Given the description of an element on the screen output the (x, y) to click on. 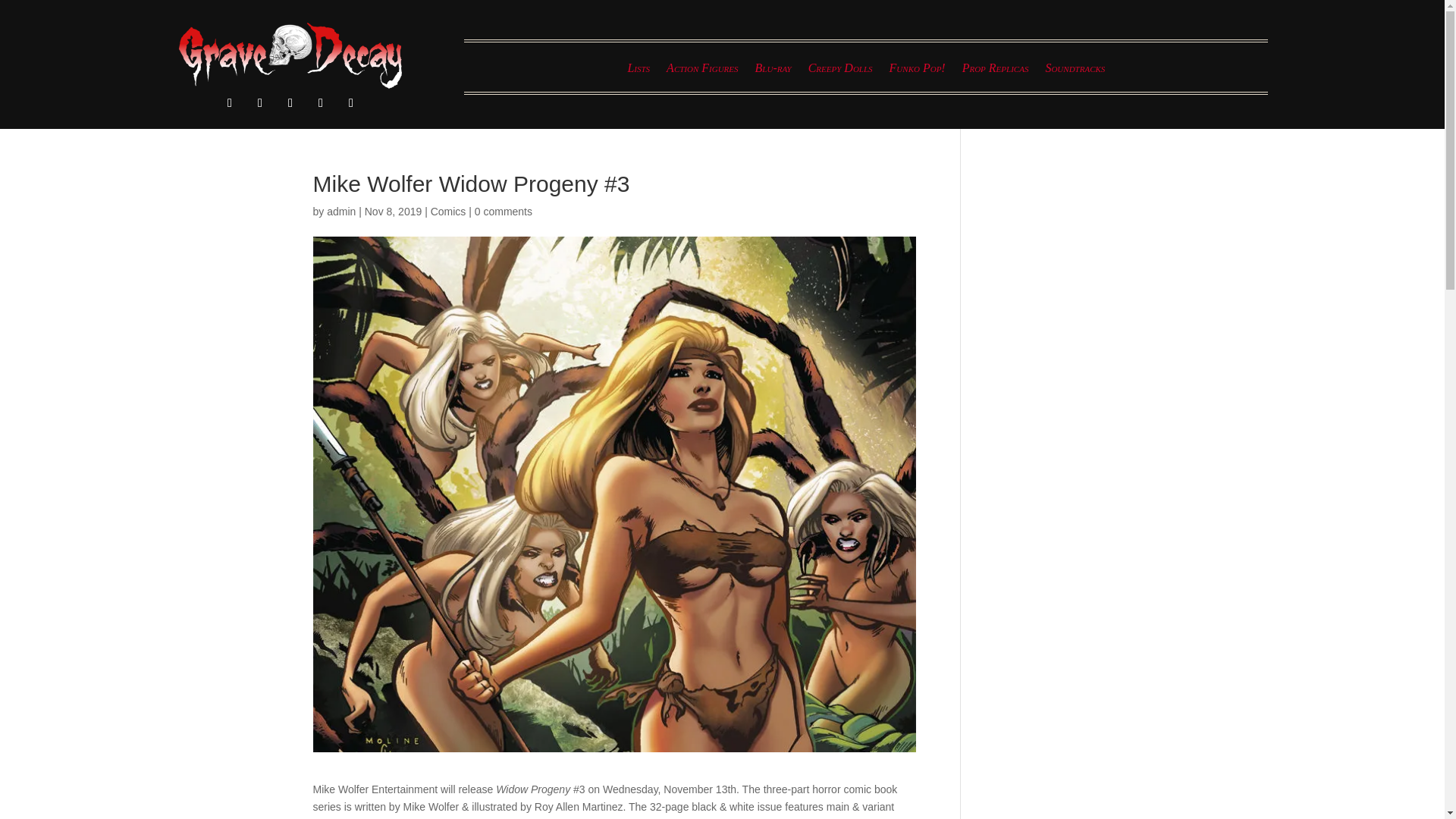
Action Figures (702, 71)
Follow on Instagram (259, 102)
Soundtracks (1075, 71)
Creepy Dolls (840, 71)
Comics (447, 211)
admin (340, 211)
Prop Replicas (995, 71)
Follow on Facebook (228, 102)
Follow on Youtube (350, 102)
GraveDecayOnBlackLogoTrans600px (290, 55)
0 comments (503, 211)
Posts by admin (340, 211)
Funko Pop! (916, 71)
Lists (638, 71)
Follow on Pinterest (290, 102)
